Given the description of an element on the screen output the (x, y) to click on. 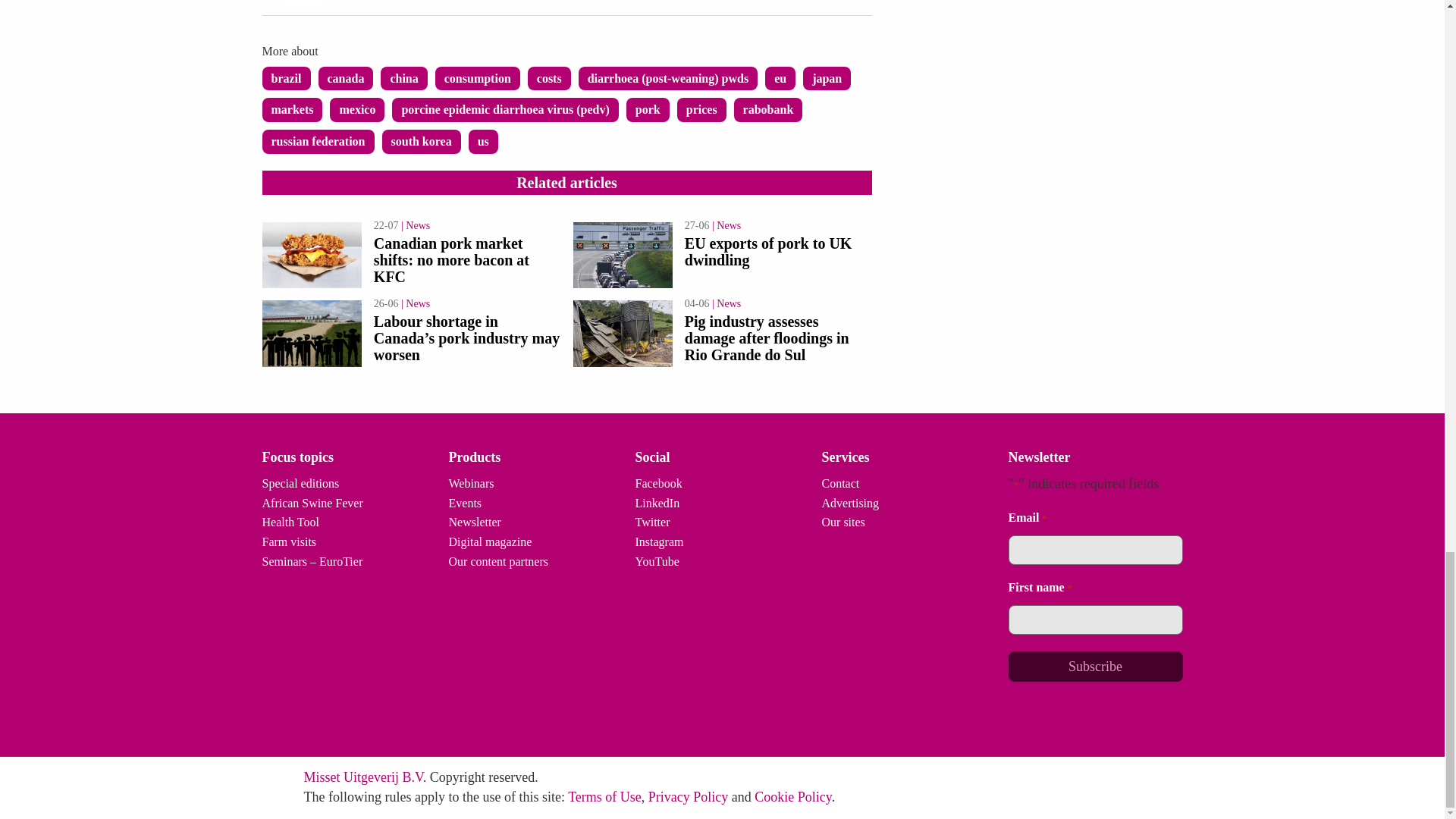
Subscribe (1095, 666)
